Given the description of an element on the screen output the (x, y) to click on. 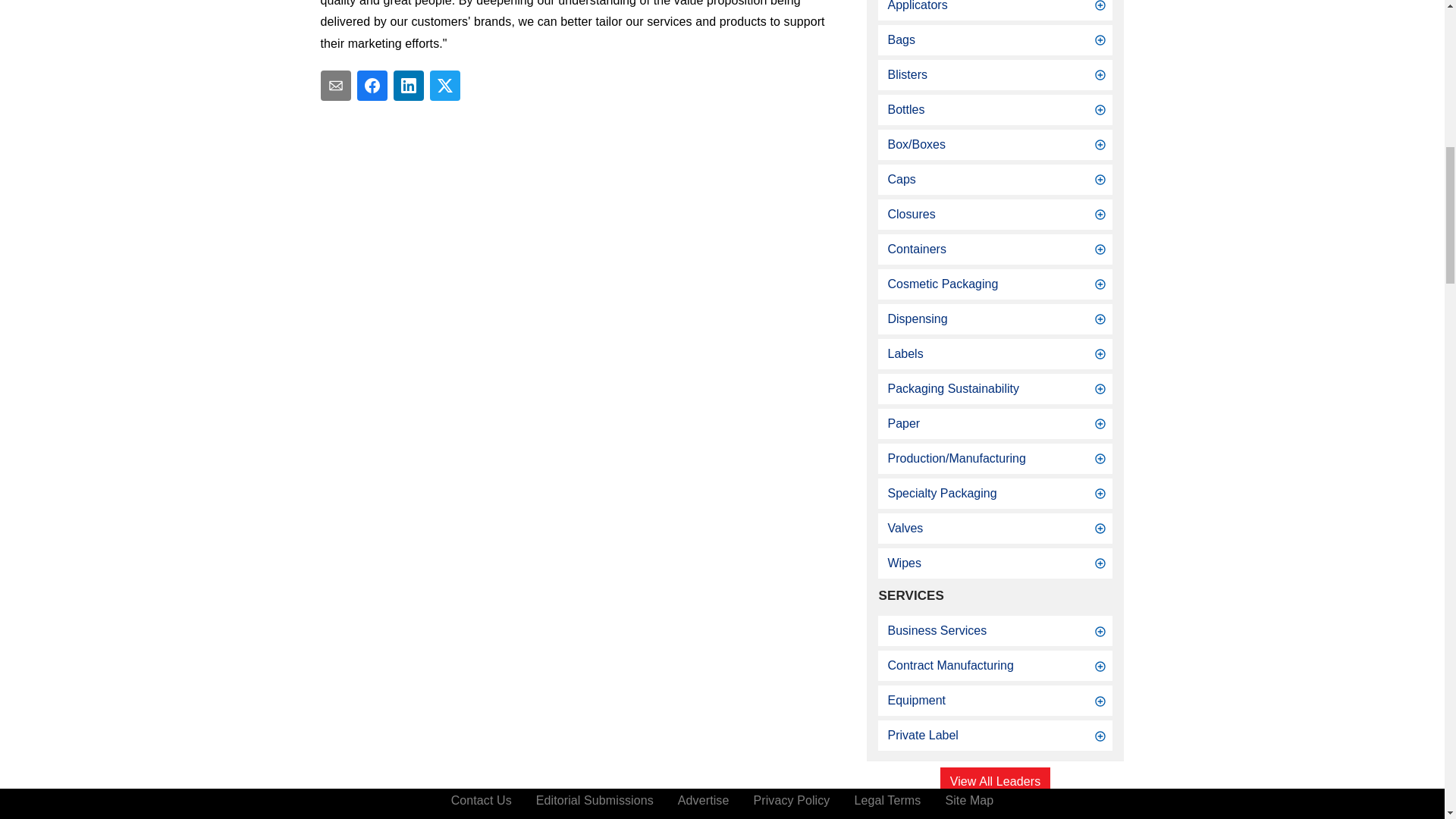
Share To email (335, 85)
Share To linkedin (408, 85)
Share To twitter (444, 85)
Share To facebook (371, 85)
